Given the description of an element on the screen output the (x, y) to click on. 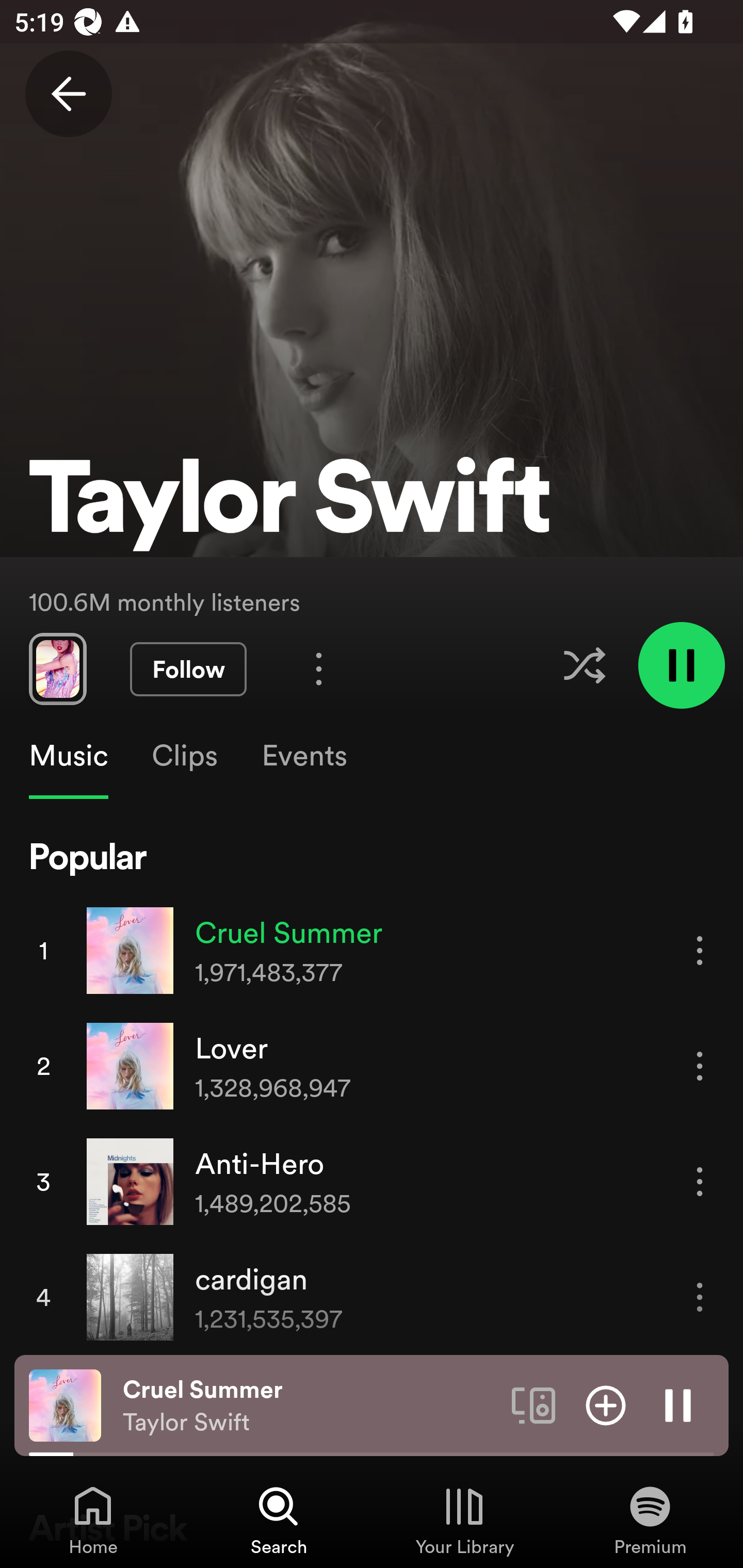
Back (68, 93)
Pause artist (681, 664)
Enable shuffle for this artist (583, 665)
Swipe through previews of tracks from this artist. (57, 668)
More options for artist Taylor Swift (318, 668)
Follow (188, 669)
Clips (184, 755)
Events (303, 755)
More options for song Cruel Summer (699, 950)
2 Lover 1,328,968,947 More options for song Lover (371, 1066)
More options for song Lover (699, 1066)
More options for song Anti-Hero (699, 1181)
More options for song cardigan (699, 1297)
Cruel Summer Taylor Swift (309, 1405)
The cover art of the currently playing track (64, 1404)
Connect to a device. Opens the devices menu (533, 1404)
Add item (605, 1404)
Pause (677, 1404)
Home, Tab 1 of 4 Home Home (92, 1519)
Search, Tab 2 of 4 Search Search (278, 1519)
Your Library, Tab 3 of 4 Your Library Your Library (464, 1519)
Premium, Tab 4 of 4 Premium Premium (650, 1519)
